Given the description of an element on the screen output the (x, y) to click on. 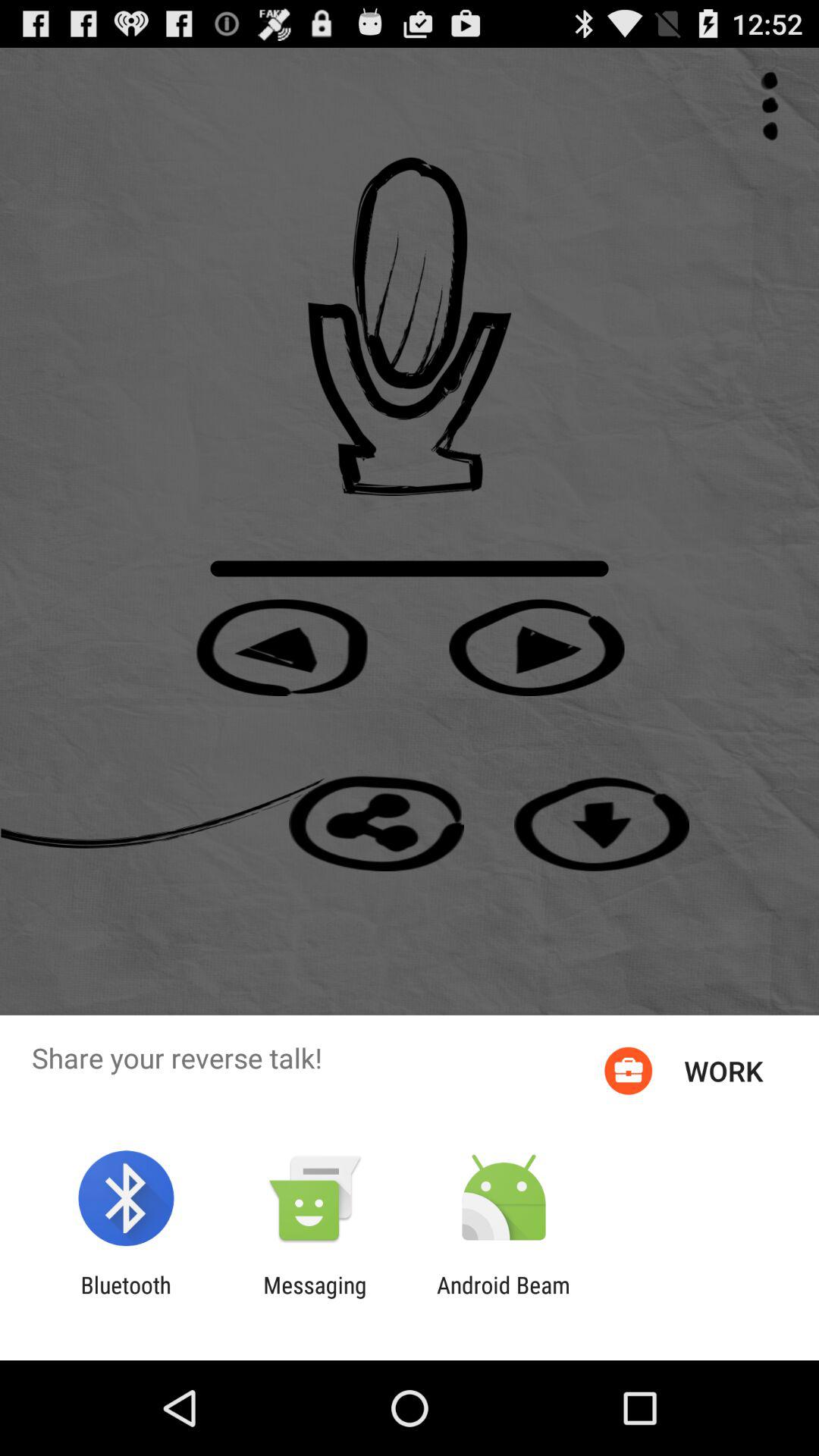
flip until bluetooth app (125, 1298)
